Given the description of an element on the screen output the (x, y) to click on. 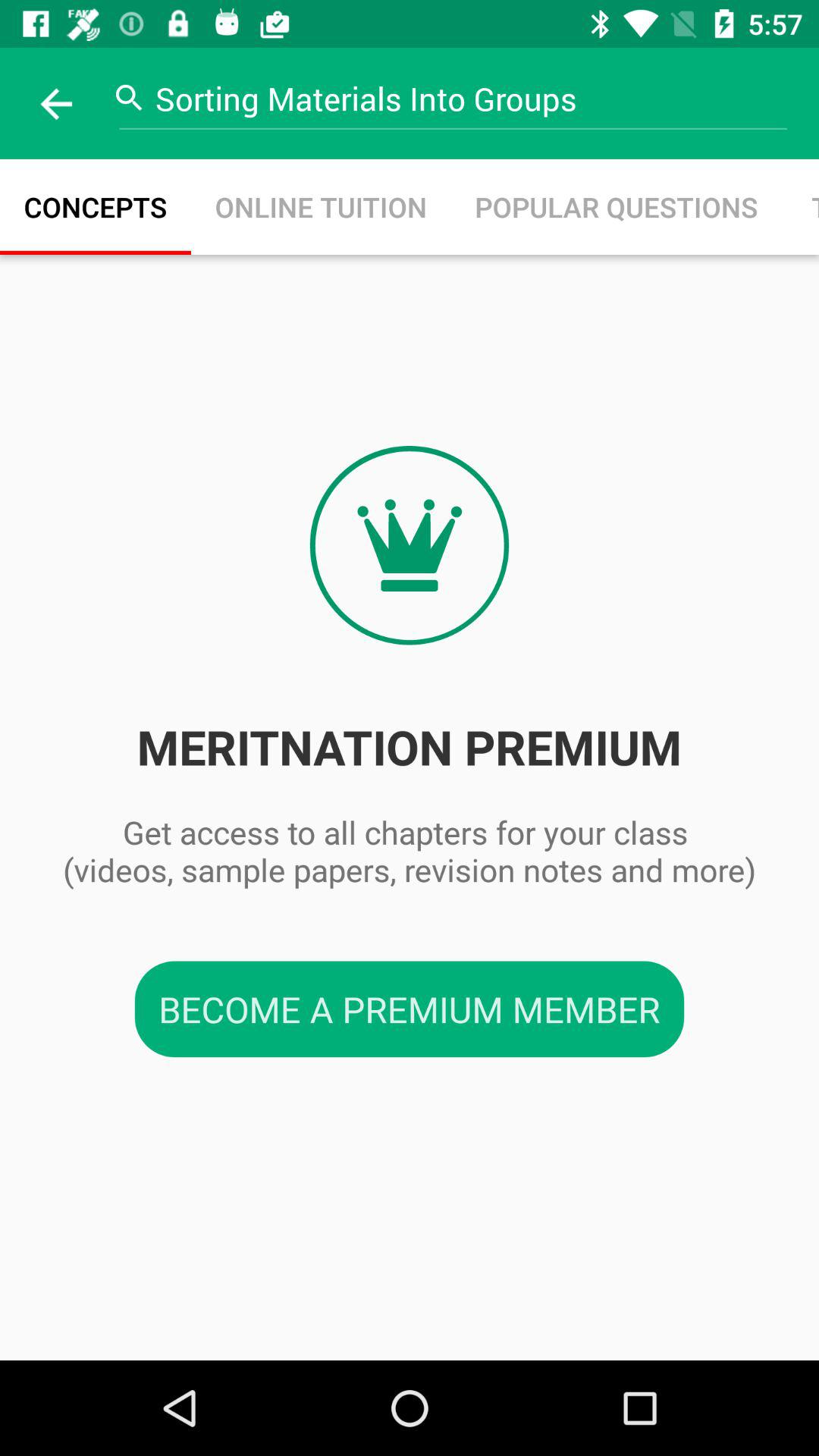
select the icon above the concepts (55, 103)
